Given the description of an element on the screen output the (x, y) to click on. 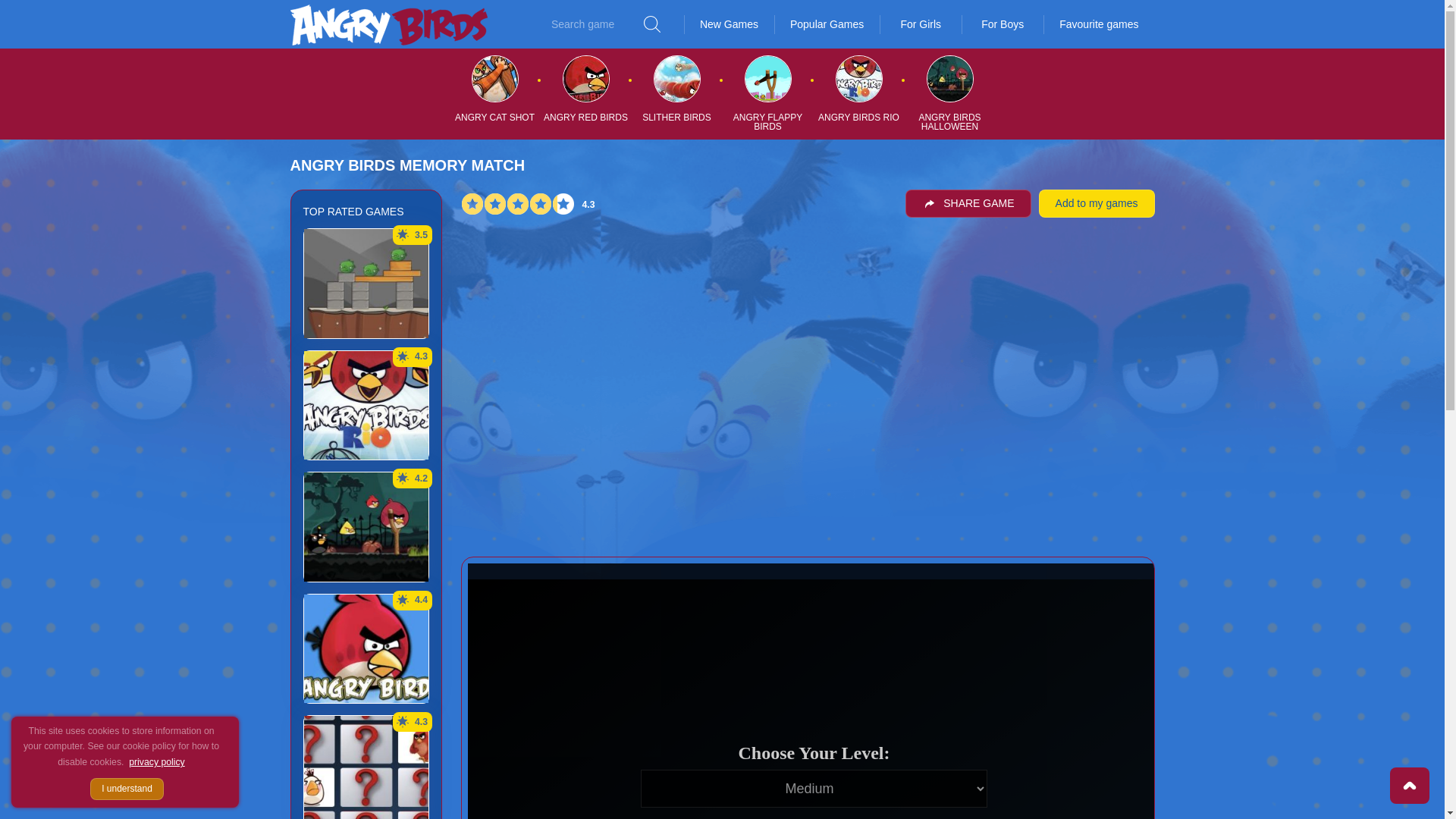
SLITHER BIRDS (676, 117)
privacy policy (156, 761)
Angry Birds Halloween (949, 93)
ANGRY CAT SHOT (494, 117)
send (652, 24)
Angry Cat Shot (494, 93)
New Games (729, 23)
I understand (126, 789)
Popular Games (826, 23)
For Boys (1001, 23)
Slither Birds (676, 93)
ANGRY BIRDS HALLOWEEN (949, 122)
For Girls (919, 23)
Angry Flappy Birds (767, 93)
Angry Birds Rio (858, 93)
